Given the description of an element on the screen output the (x, y) to click on. 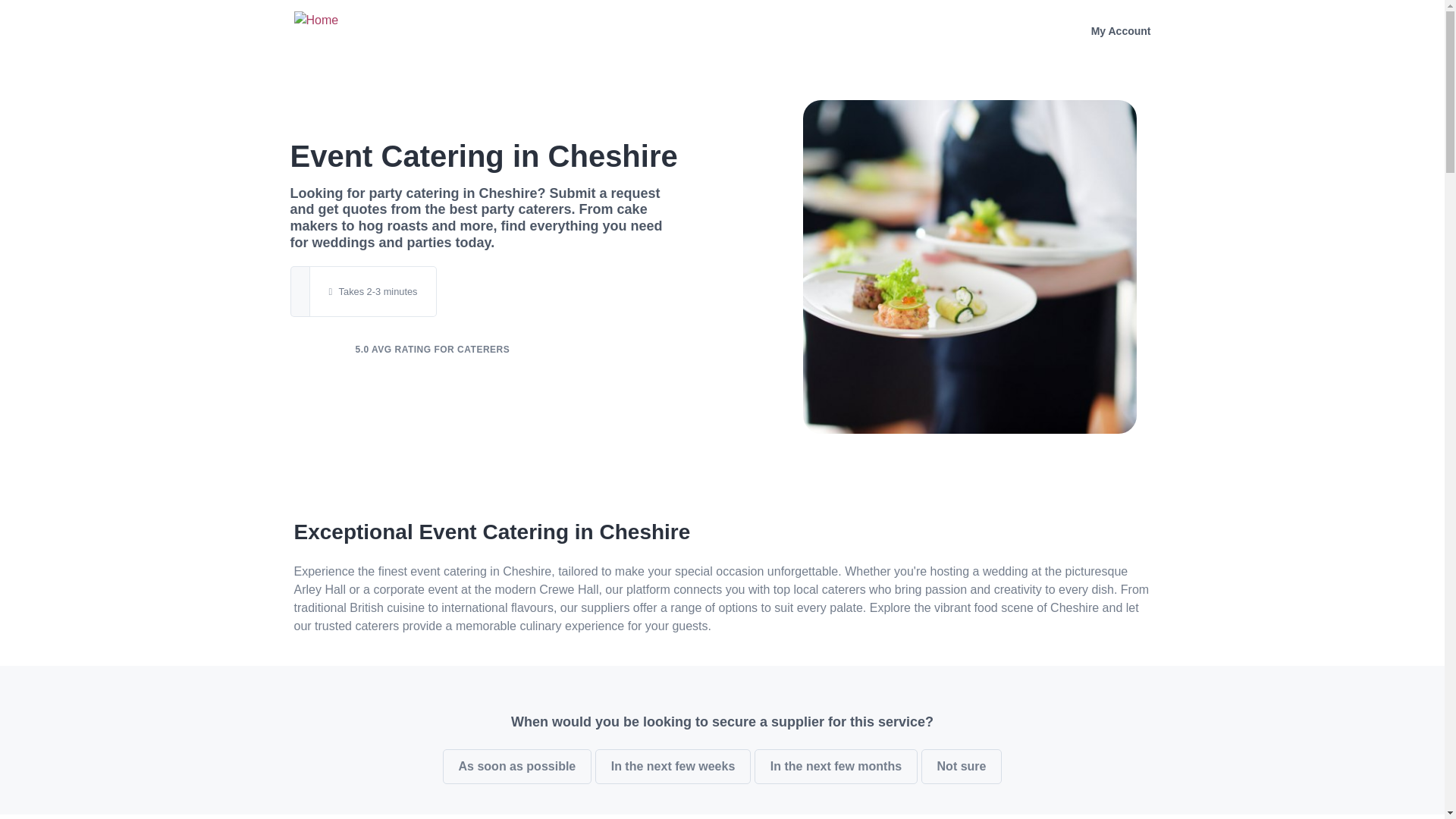
In the next few months (835, 766)
As soon as possible (517, 766)
Event Catering Rental (970, 266)
Not sure (962, 766)
My Account (1120, 31)
In the next few weeks (673, 766)
Home (335, 28)
